Given the description of an element on the screen output the (x, y) to click on. 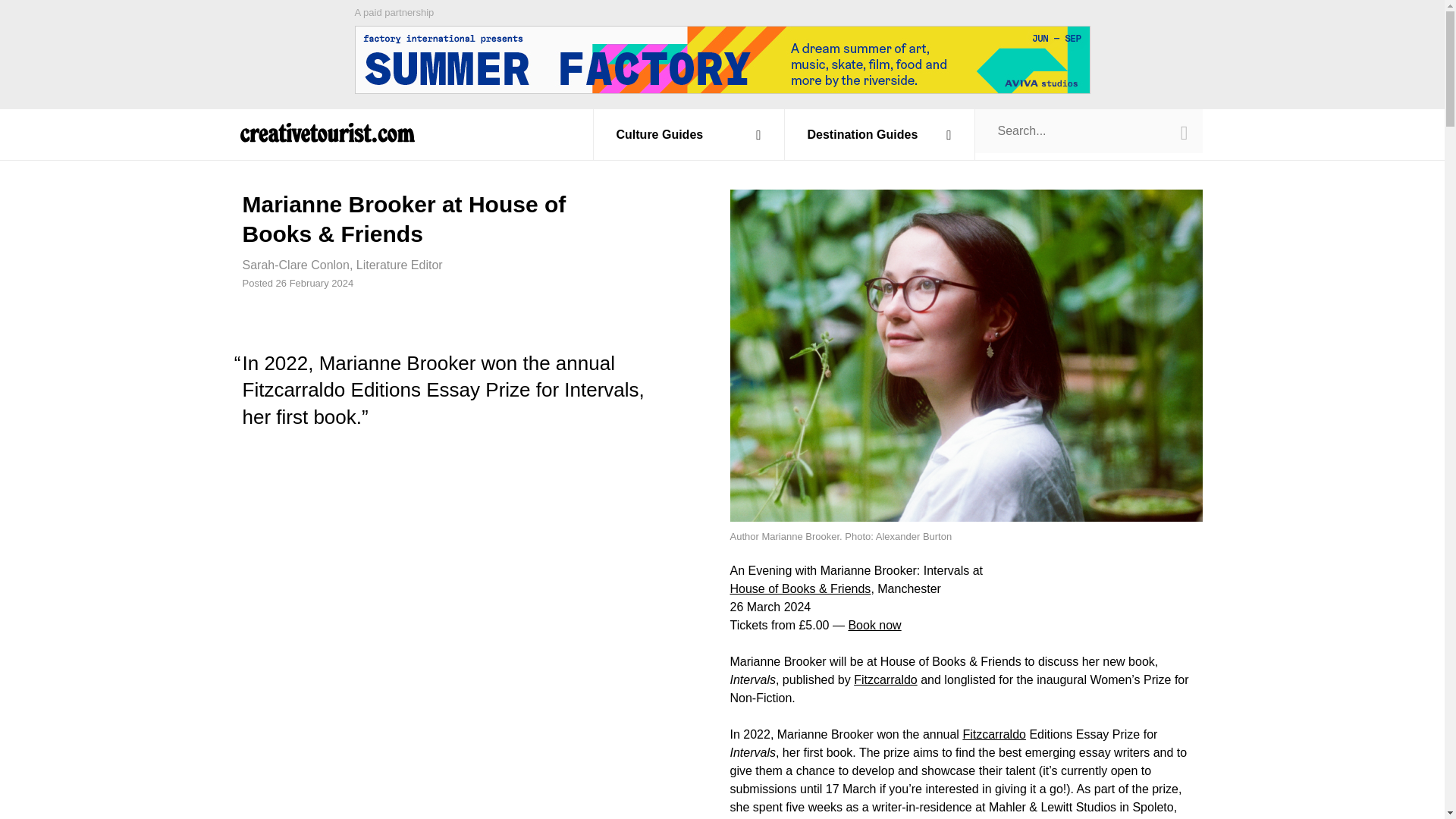
Fitzcarraldo (885, 679)
Book now (874, 625)
Destination Guides (879, 134)
Culture Guides (688, 134)
Fitzcarraldo (994, 734)
